Given the description of an element on the screen output the (x, y) to click on. 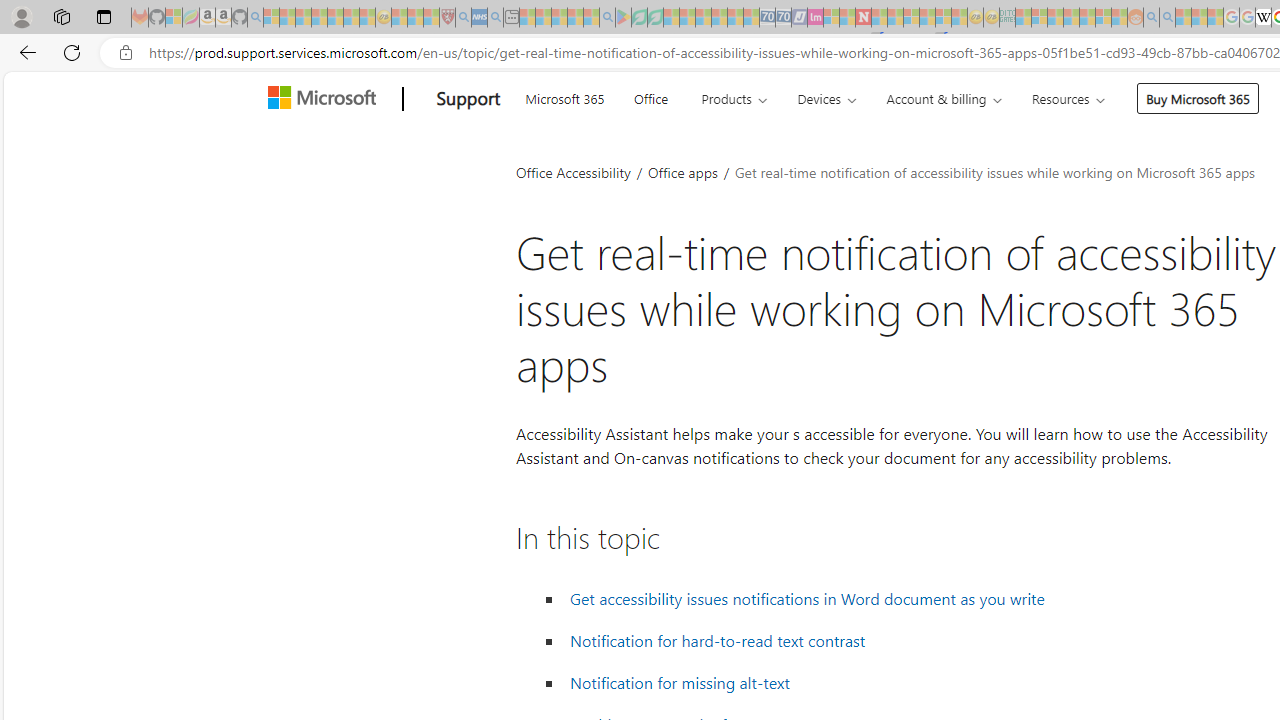
 Notification for hard-to-read text contrast (717, 641)
Office apps  (683, 172)
